Given the description of an element on the screen output the (x, y) to click on. 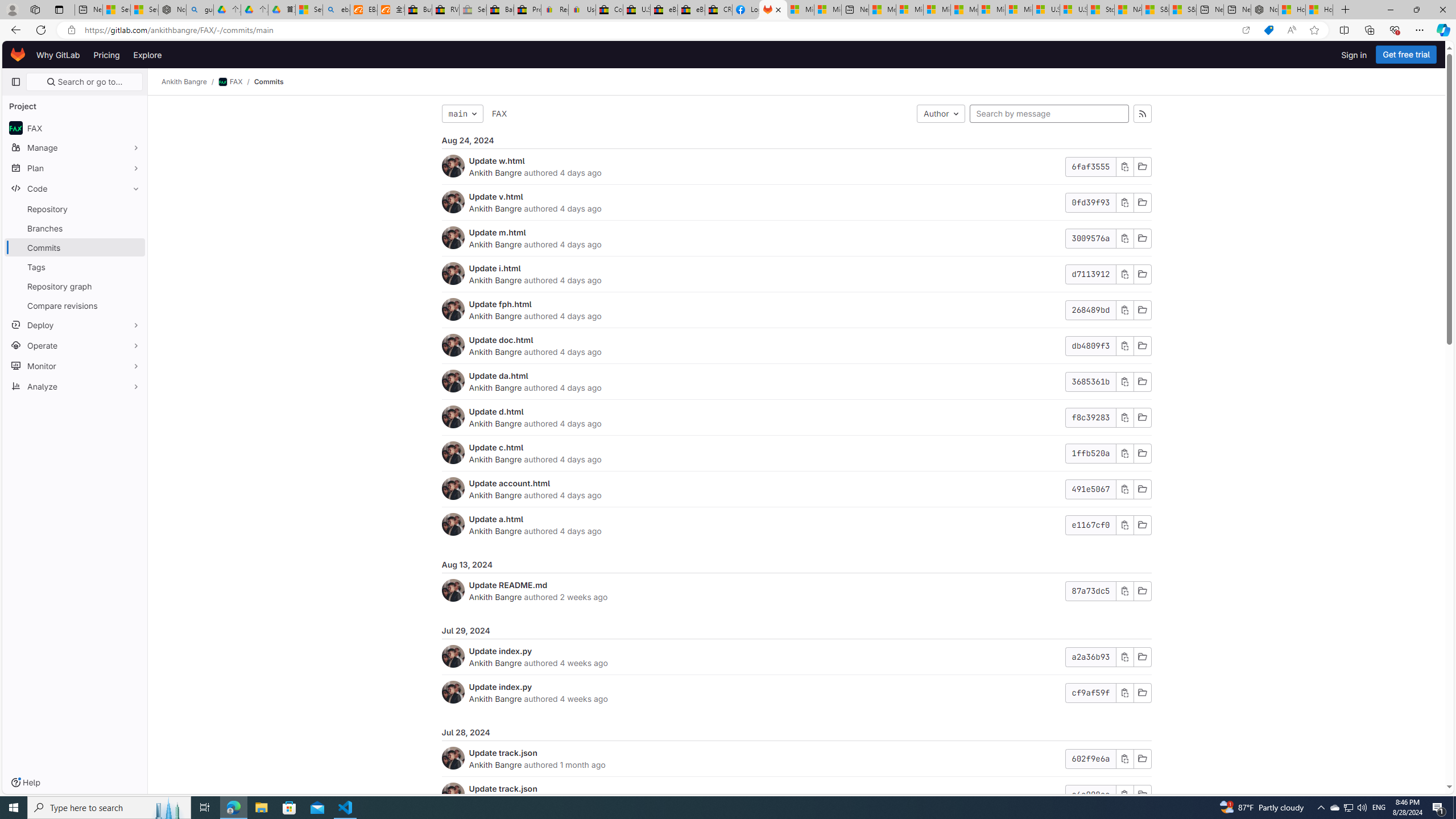
Microsoft account | Home (936, 9)
Copy commit SHA (1124, 794)
Ankith Bangre (495, 764)
Pricing (106, 54)
Primary navigation sidebar (15, 81)
Update index.pyAnkith Bangre authored 4 weeks agoa2a36b93 (796, 656)
Update account.htmlAnkith Bangre authored 4 days ago491e5067 (796, 488)
Update w.html (496, 160)
Update a.htmlAnkith Bangre authored 4 days agoe1167cf0 (796, 524)
Open in app (1245, 29)
